Given the description of an element on the screen output the (x, y) to click on. 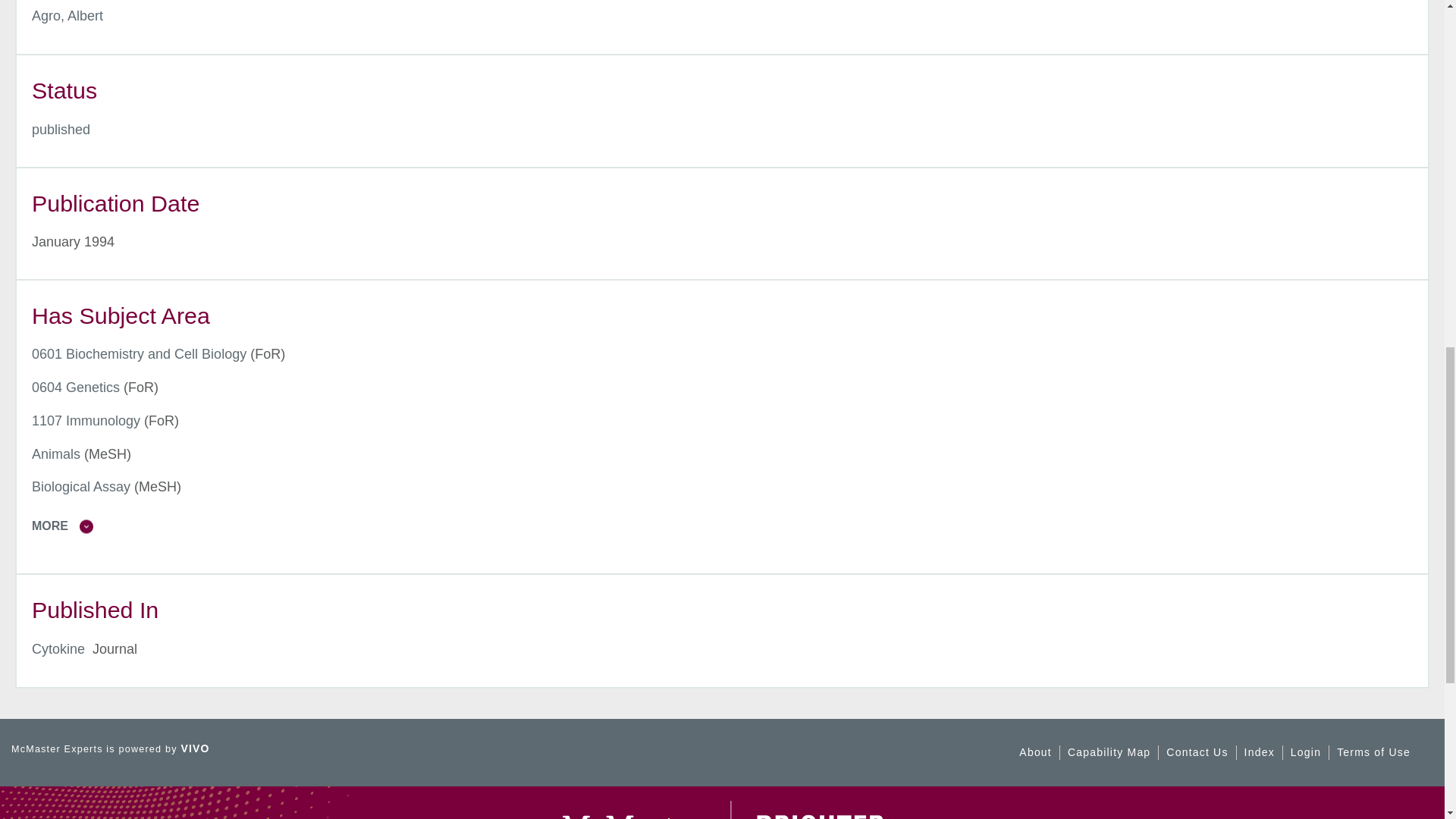
concept name (139, 353)
author name (67, 15)
concept name (75, 387)
name (61, 129)
concept name (85, 420)
